Given the description of an element on the screen output the (x, y) to click on. 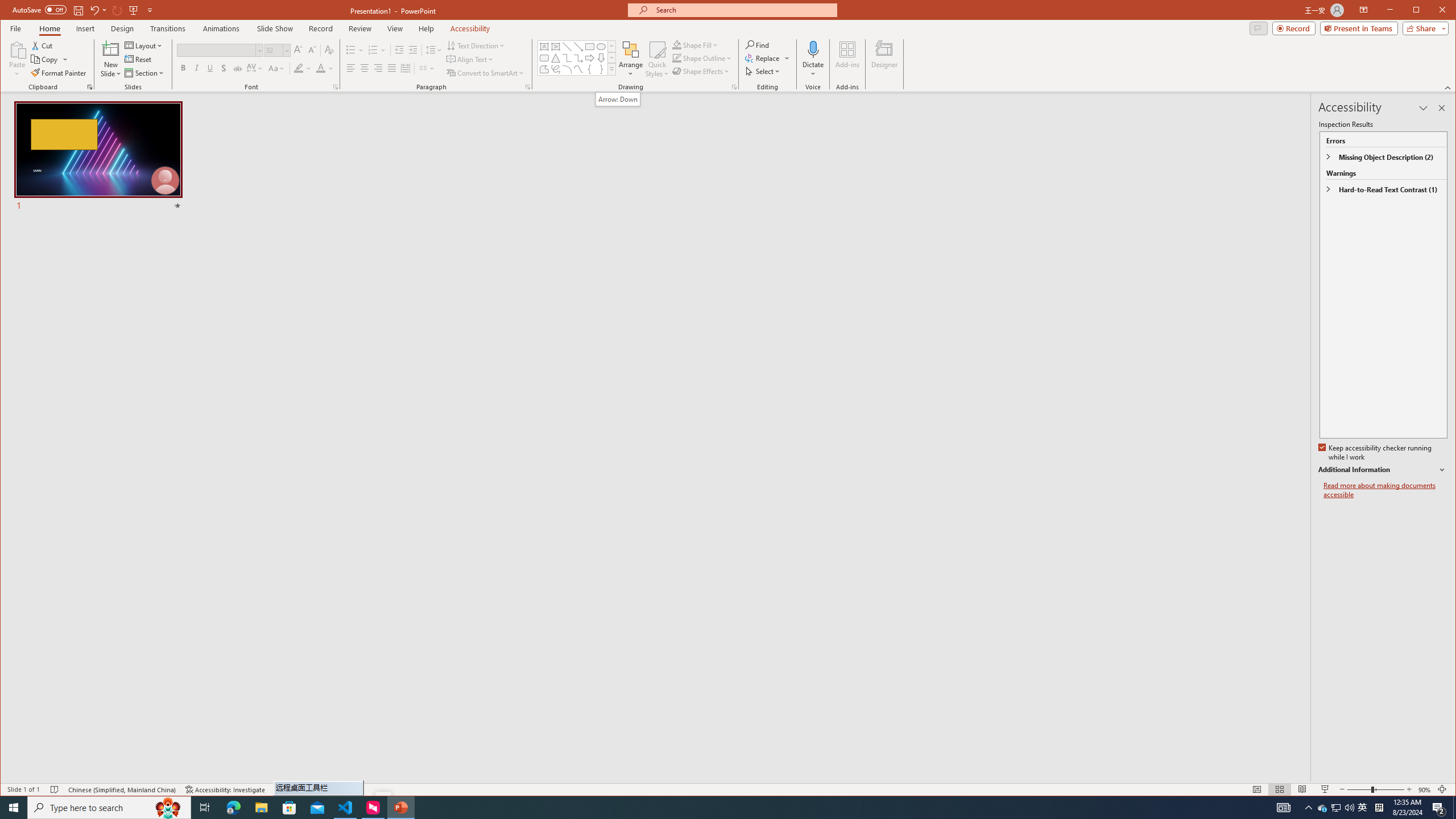
Text Highlight Color Yellow (298, 68)
Shape Outline Blue, Accent 1 (676, 57)
Align Text (1322, 807)
Section (470, 59)
